Given the description of an element on the screen output the (x, y) to click on. 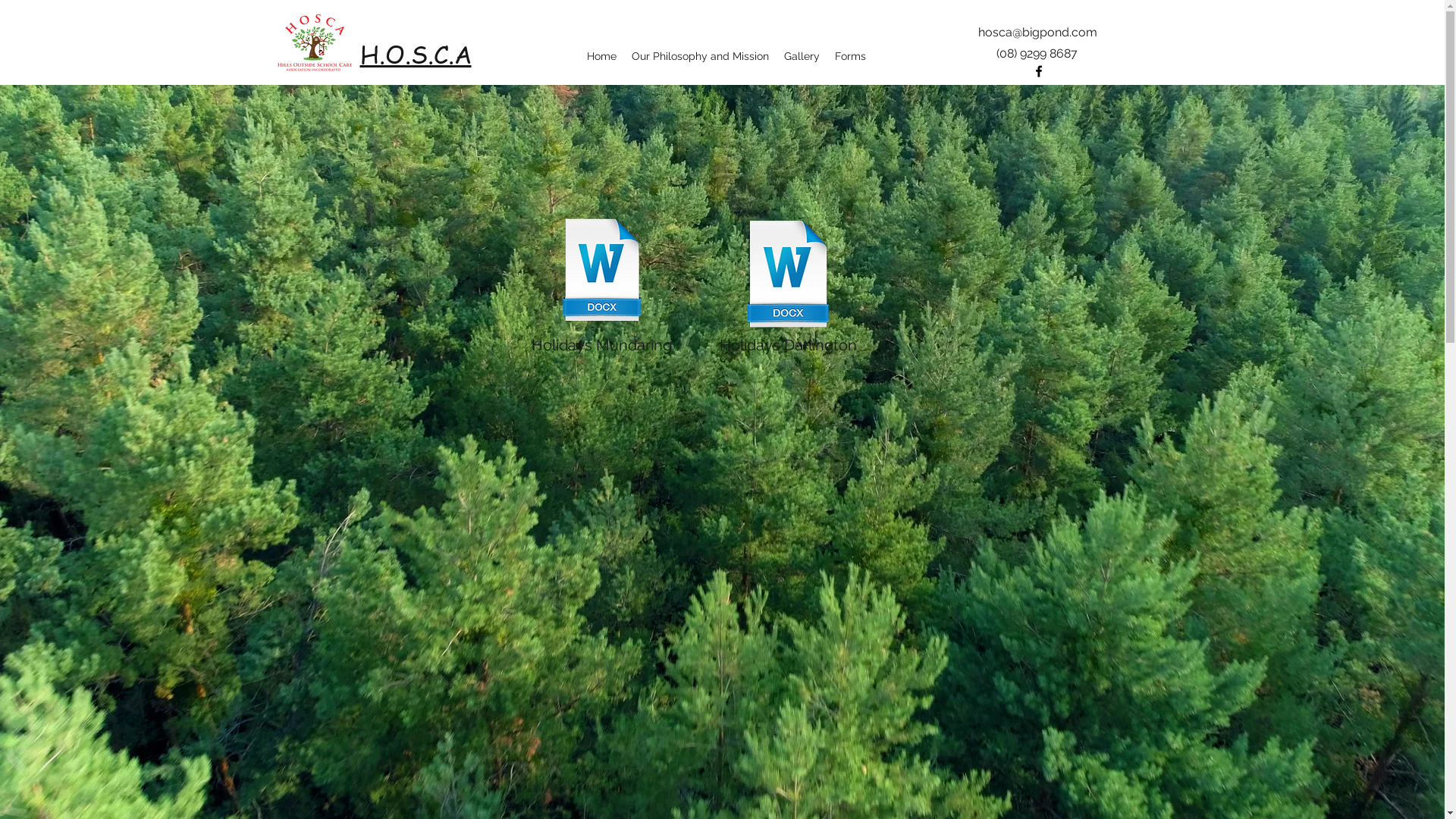
H.O.S.C.A Element type: text (414, 53)
Our Philosophy and Mission Element type: text (699, 55)
hosca@bigpond.com Element type: text (1037, 32)
Gallery Element type: text (801, 55)
Home Element type: text (601, 55)
Forms Element type: text (849, 55)
Holidays Darlington Element type: text (788, 284)
